Given the description of an element on the screen output the (x, y) to click on. 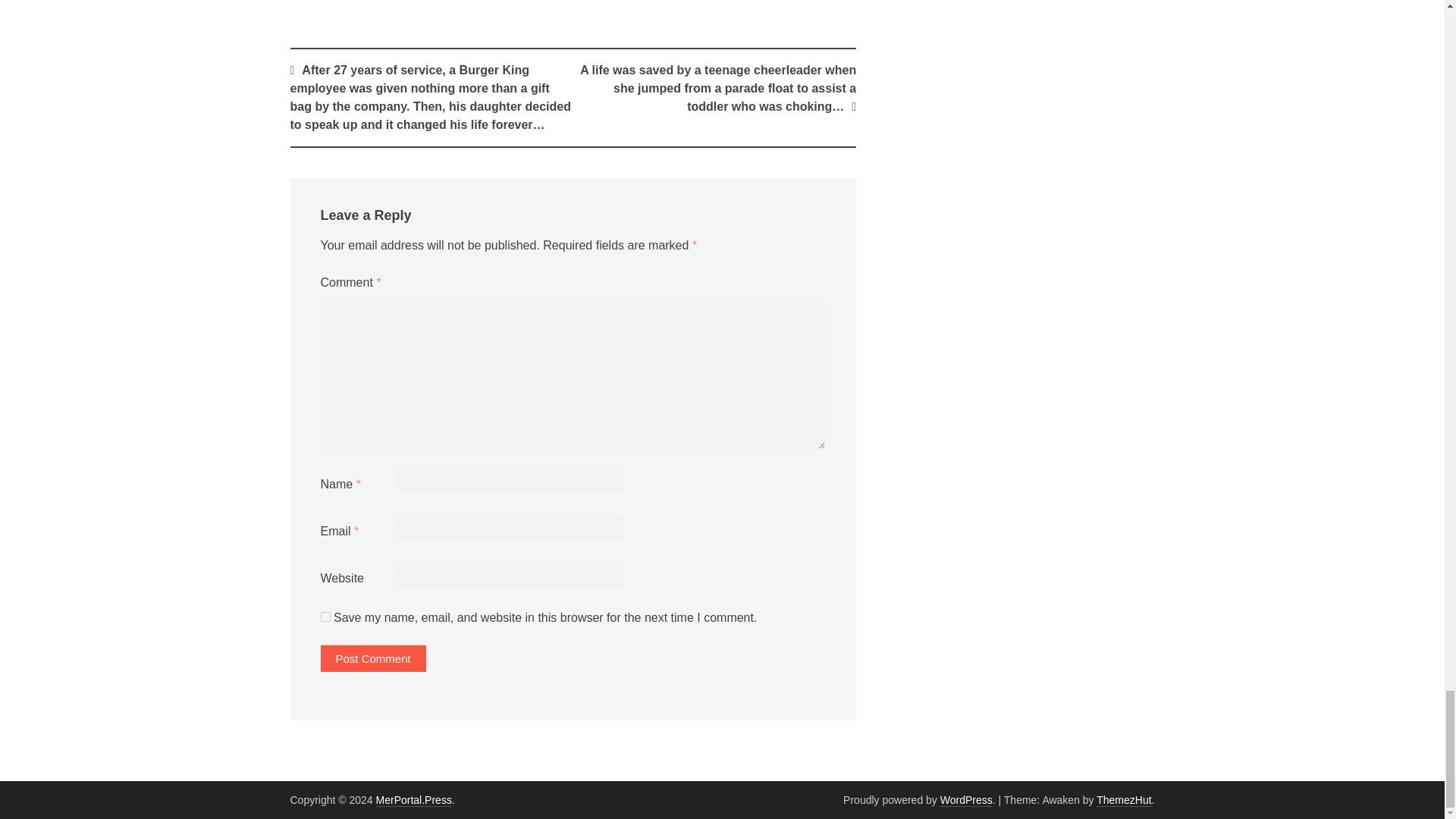
ThemezHut (1123, 799)
MerPortal.Press (413, 799)
MerPortal.Press (413, 799)
Post Comment (372, 658)
Post Comment (372, 658)
WordPress (966, 799)
yes (325, 616)
WordPress (966, 799)
